Given the description of an element on the screen output the (x, y) to click on. 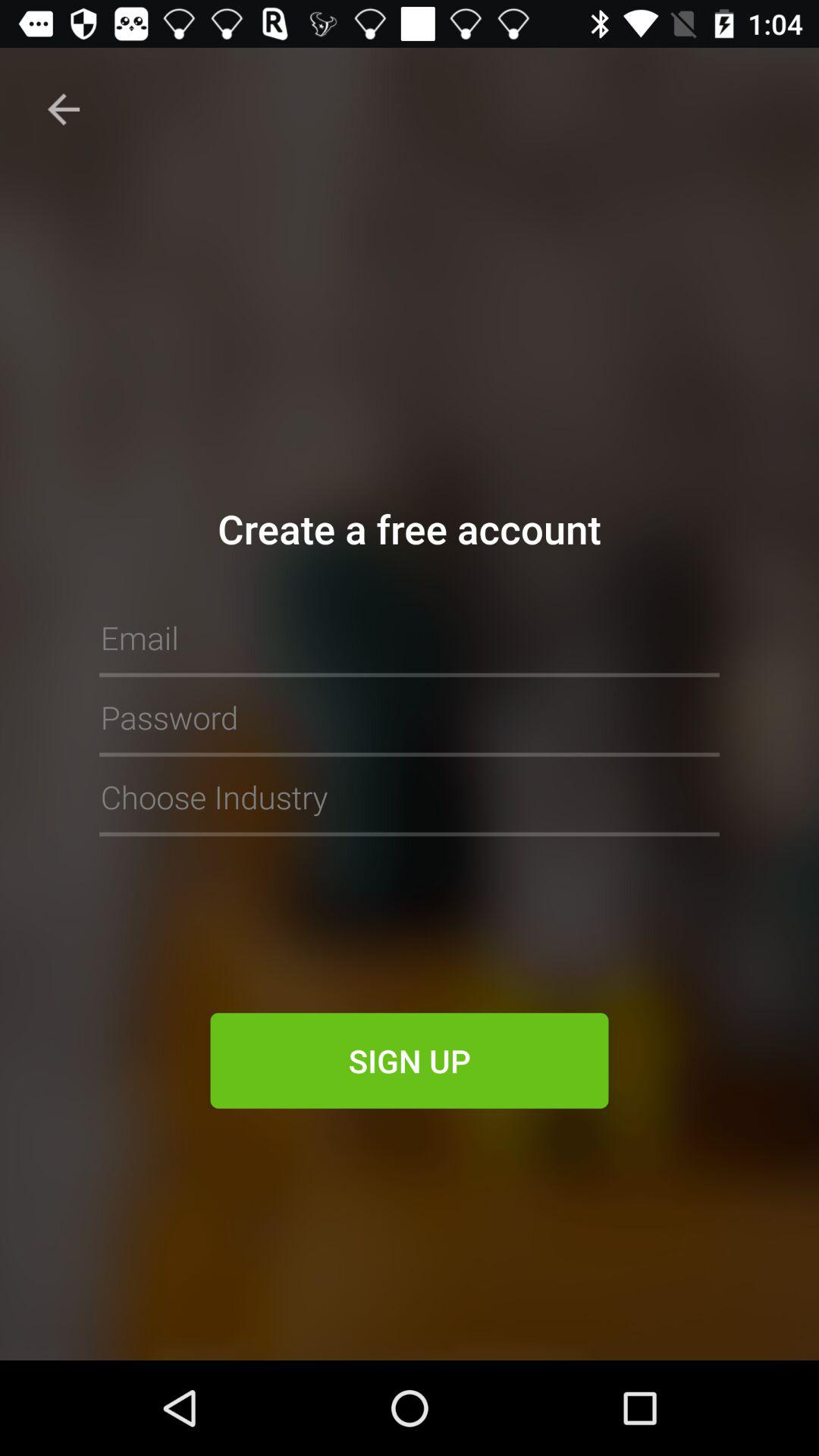
go to back (63, 109)
